Given the description of an element on the screen output the (x, y) to click on. 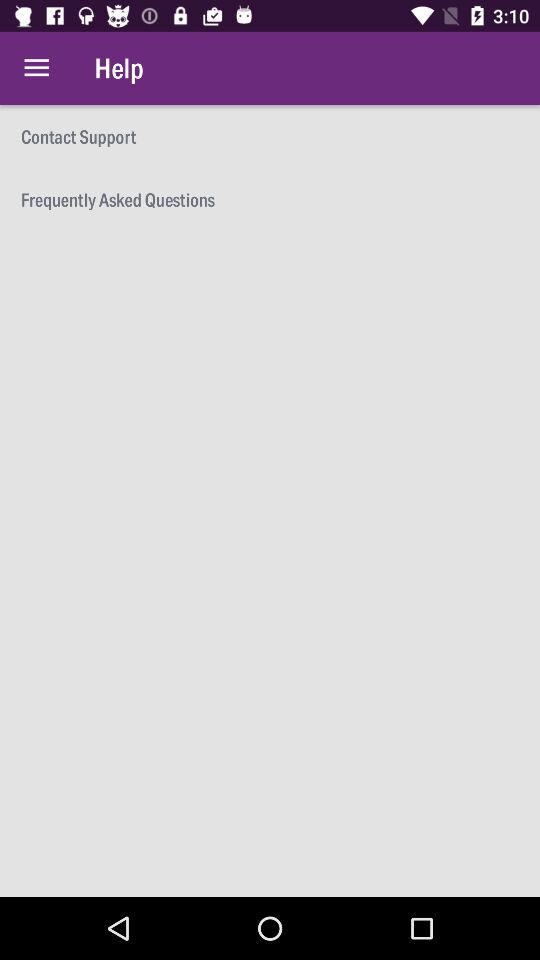
choose item above contact support icon (36, 68)
